Given the description of an element on the screen output the (x, y) to click on. 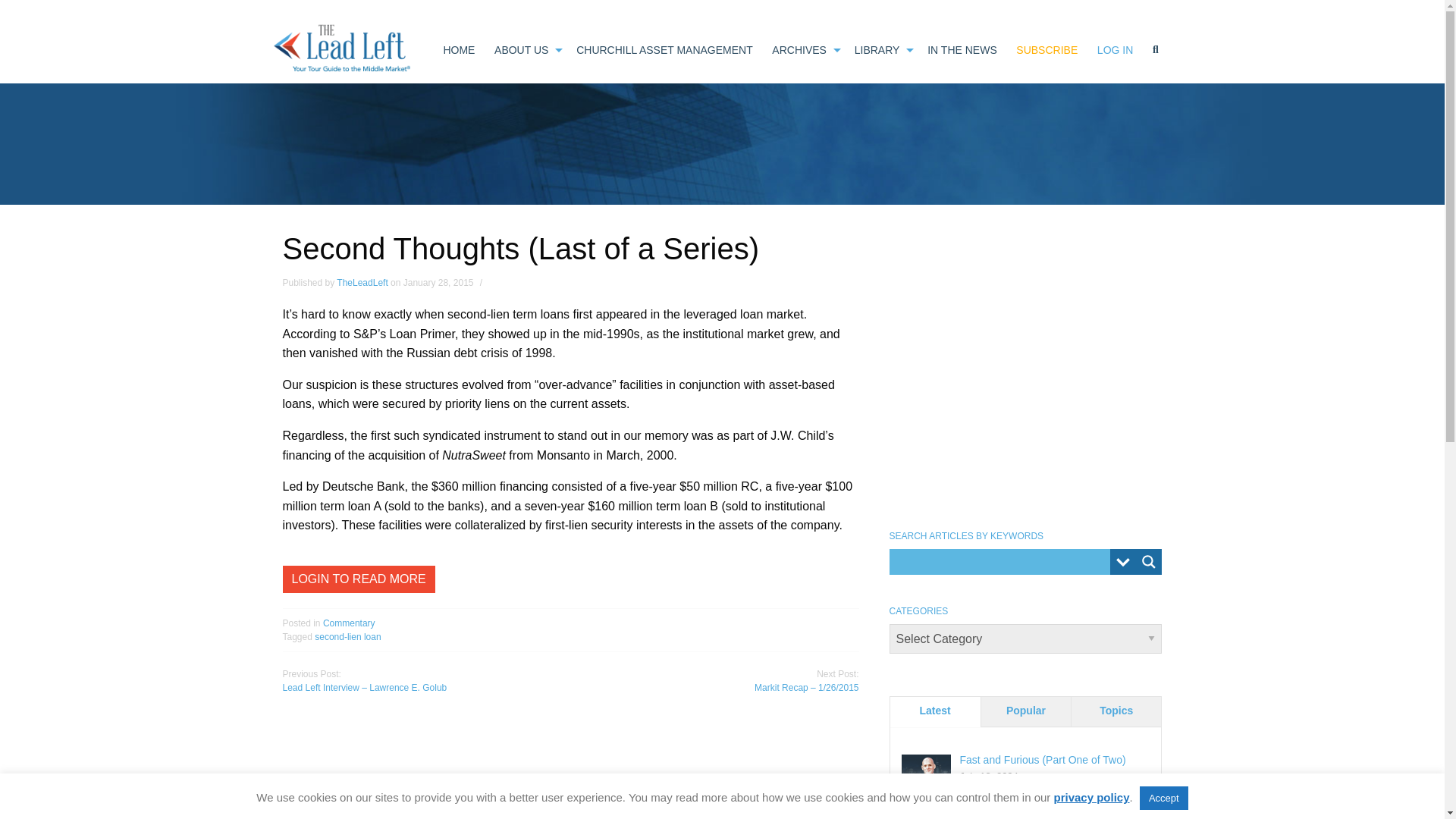
Wednesday, January 28, 2015, 11:44 pm (438, 282)
Posts by TheLeadLeft (361, 282)
